Given the description of an element on the screen output the (x, y) to click on. 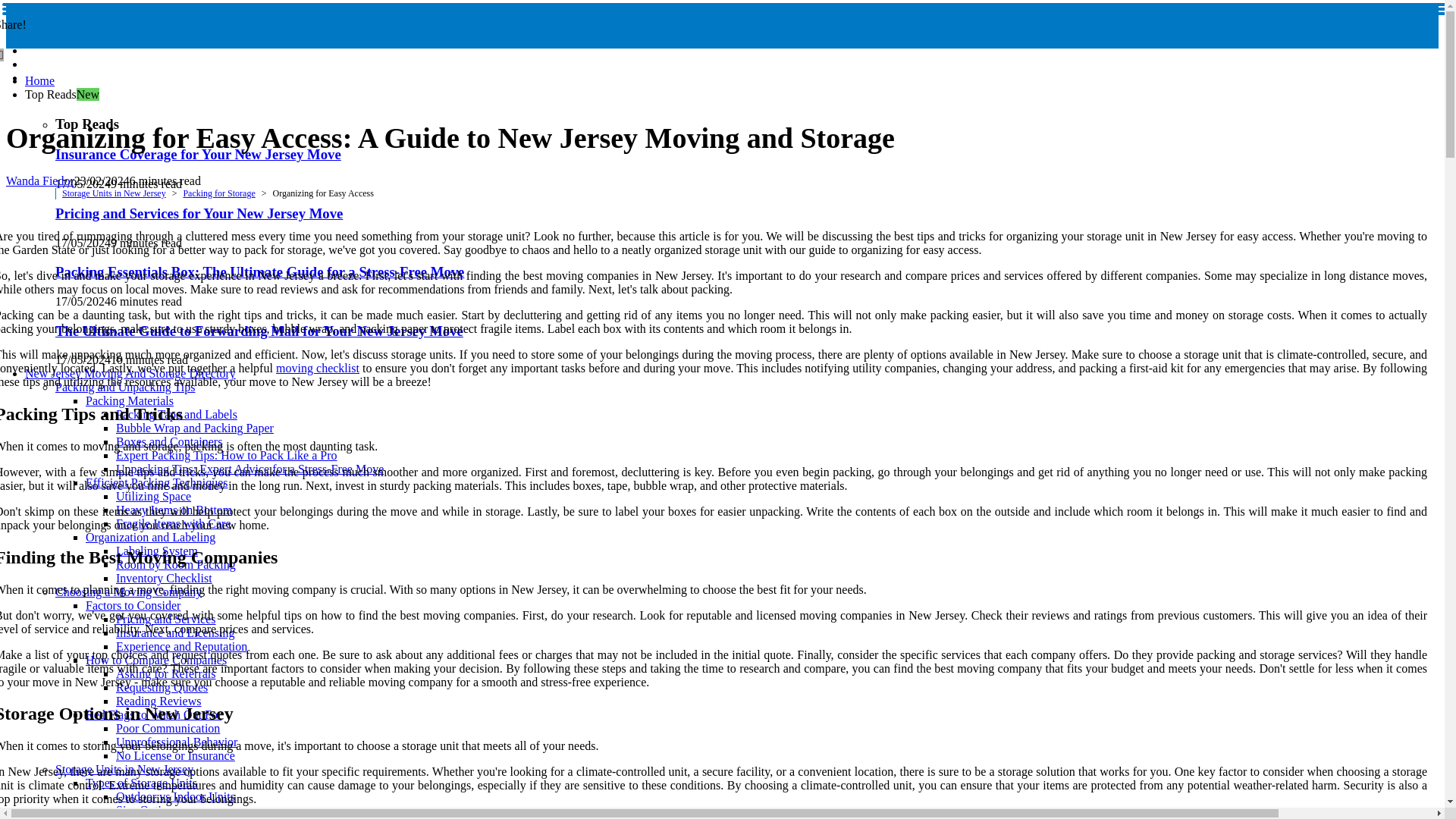
Efficient Packing Techniques (156, 481)
How to Compare Companies (156, 659)
Packing Tape and Labels (176, 413)
Insurance Coverage for Your New Jersey Move (197, 154)
Unpacking Tips: Expert Advice for a Stress-Free Move (250, 468)
Poor Communication (167, 727)
Bubble Wrap and Packing Paper (194, 427)
Posts by Wanda Fiedor (39, 180)
Asking for Referrals (165, 673)
New Jersey Moving And Storage Directory (129, 373)
